Given the description of an element on the screen output the (x, y) to click on. 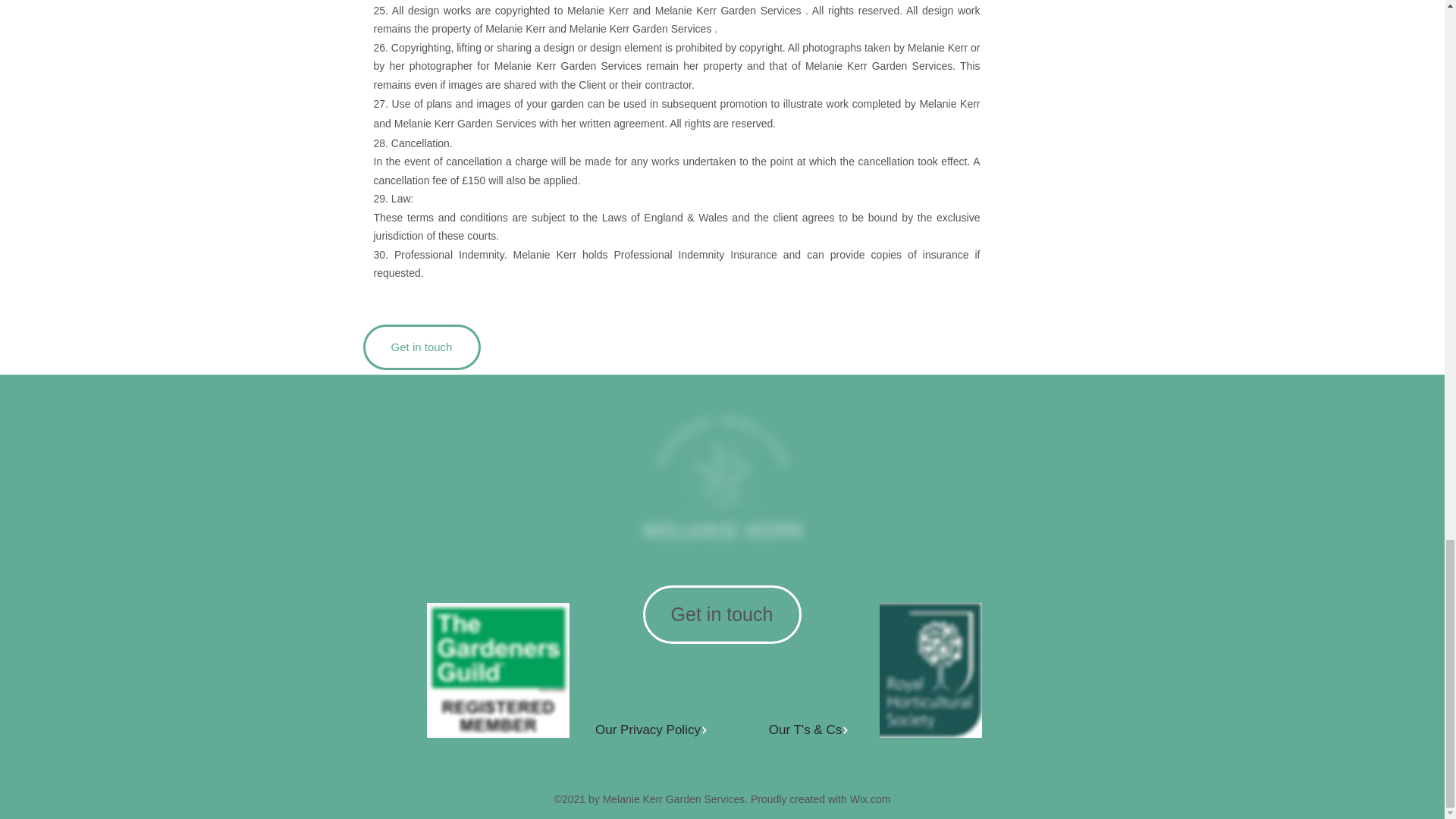
Get in touch (421, 347)
Melanie Kerr Garden Services Bristol (497, 669)
Our Privacy Policy (652, 729)
Get in touch (722, 614)
